Given the description of an element on the screen output the (x, y) to click on. 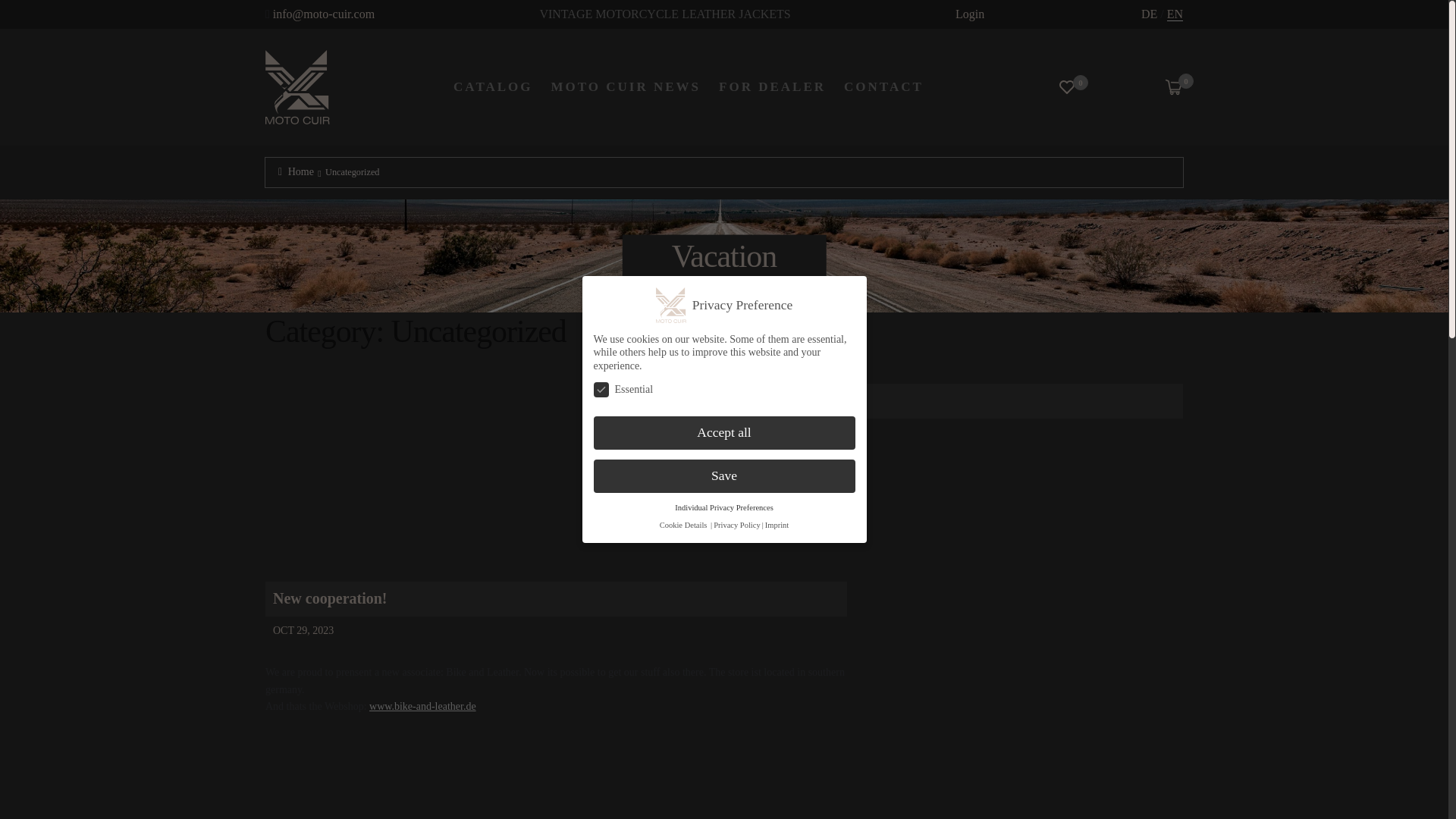
OCT 29, 2023 (298, 630)
FOR DEALER (771, 86)
DE (1149, 13)
www.bike-and-leather.de (422, 706)
0 (1066, 87)
New cooperation! (330, 597)
Vacation (636, 400)
Login (969, 13)
EN (1174, 14)
Home (296, 171)
JUN 11, 2024 (634, 432)
CATALOG (492, 86)
CONTACT (883, 86)
0 (1173, 86)
MOTO CUIR NEWS (626, 86)
